Given the description of an element on the screen output the (x, y) to click on. 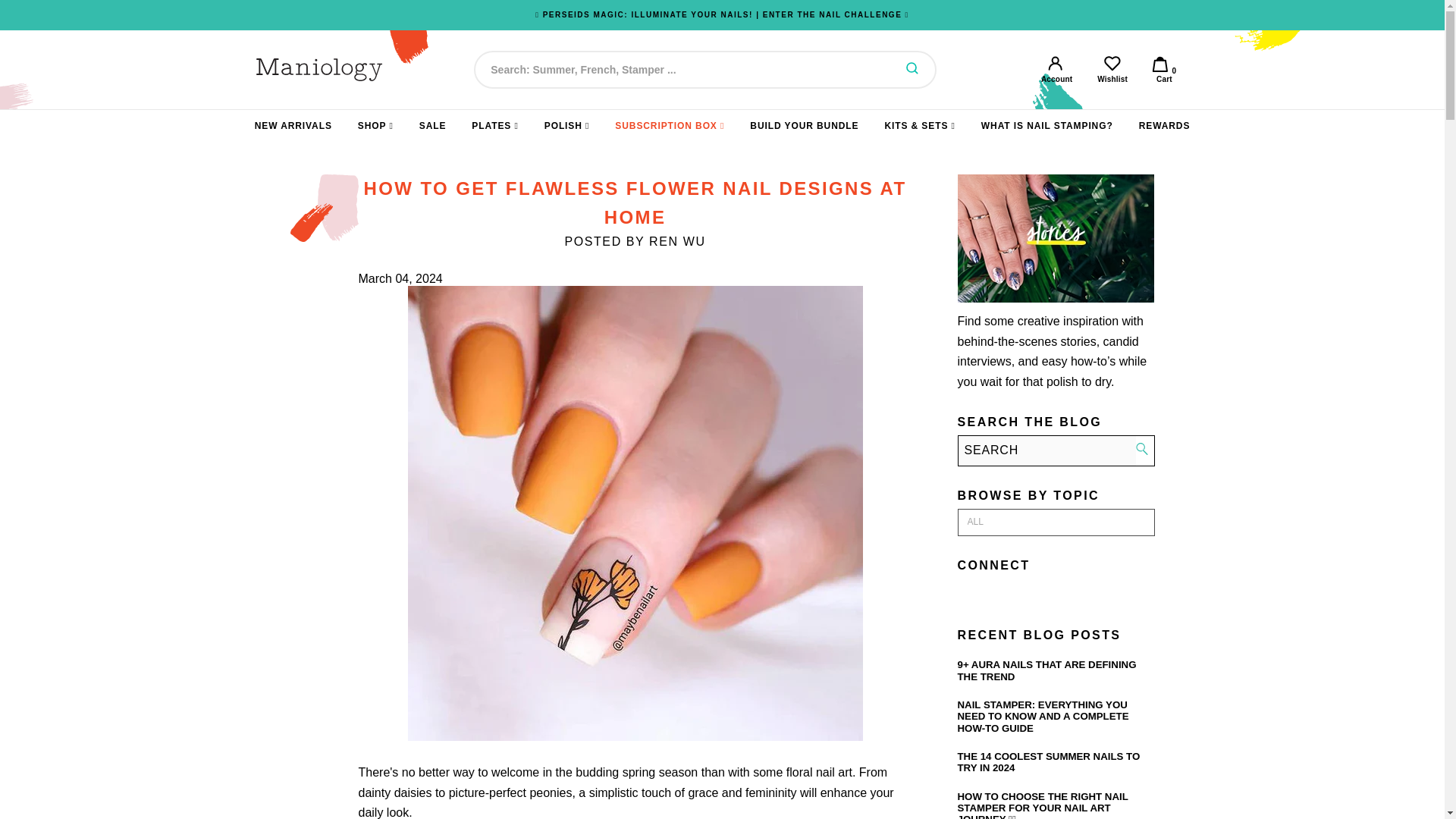
SEARCH (1163, 70)
Wishlist (912, 69)
Login (1113, 70)
NEW ARRIVALS (1056, 70)
SHOP (293, 126)
Wishlist (375, 126)
Account (1113, 70)
